Given the description of an element on the screen output the (x, y) to click on. 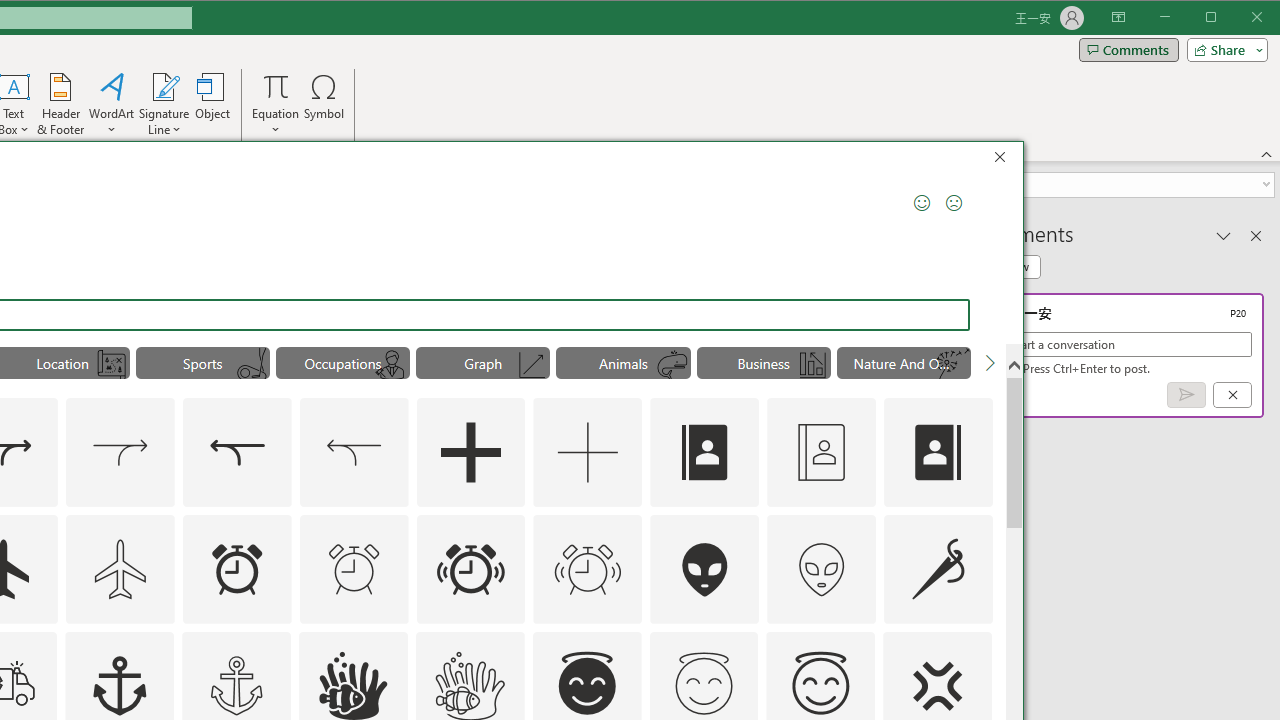
AutomationID: Icons_AlarmRinging (470, 568)
AutomationID: Icons_AlarmRinging_M (587, 568)
AutomationID: Icons_JudgeMale_M (391, 365)
AutomationID: Icons_AddressBook_RTL (938, 452)
AutomationID: Icons_AlarmClock_M (353, 568)
AutomationID: Icons_Acquisition_RTL (236, 452)
"Occupations" Icons. (342, 362)
AutomationID: Icons_Whale_M (673, 365)
WordArt (111, 104)
Cancel (1232, 395)
